Given the description of an element on the screen output the (x, y) to click on. 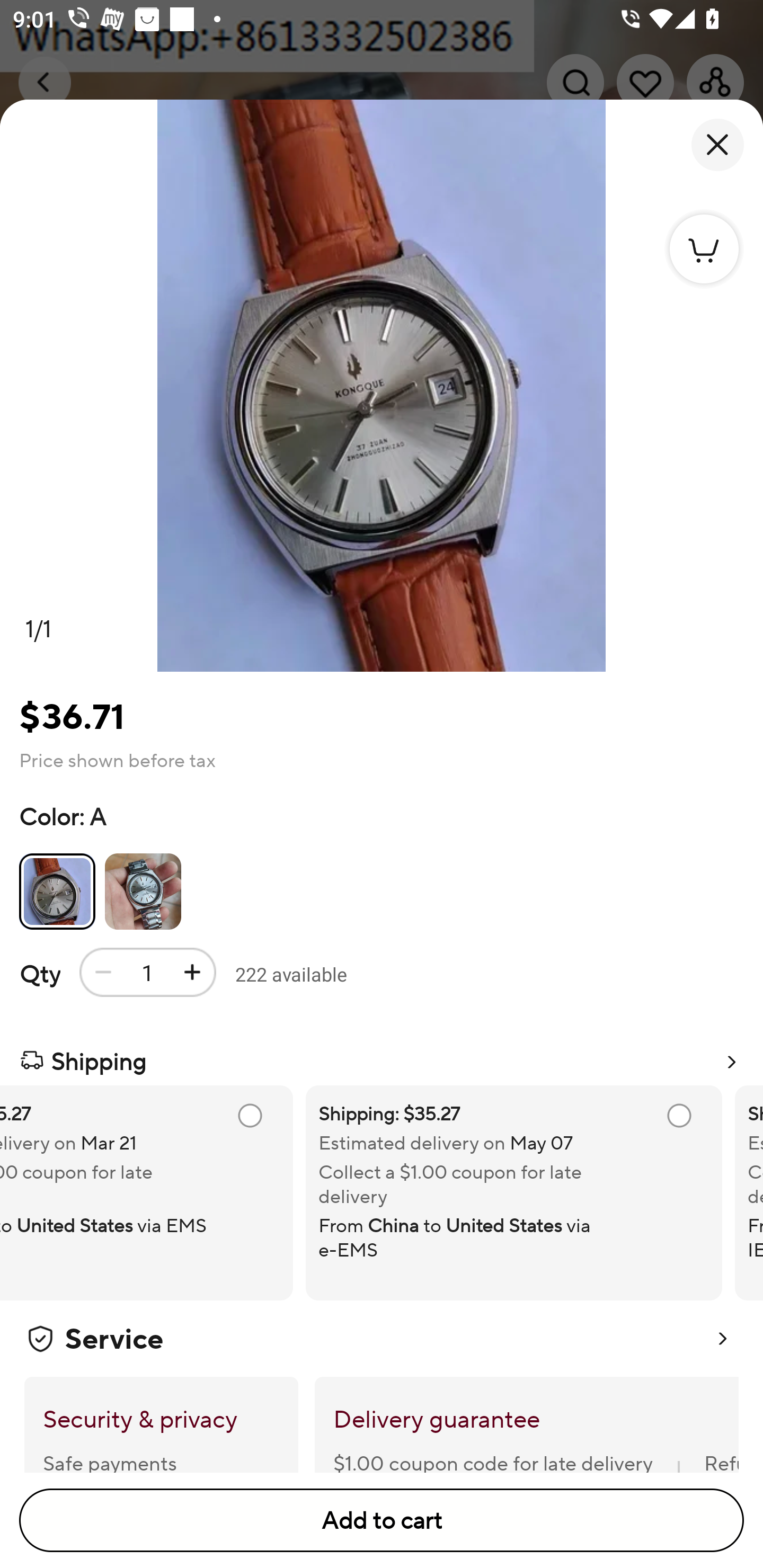
close  (717, 144)
Add to cart (381, 1520)
